Given the description of an element on the screen output the (x, y) to click on. 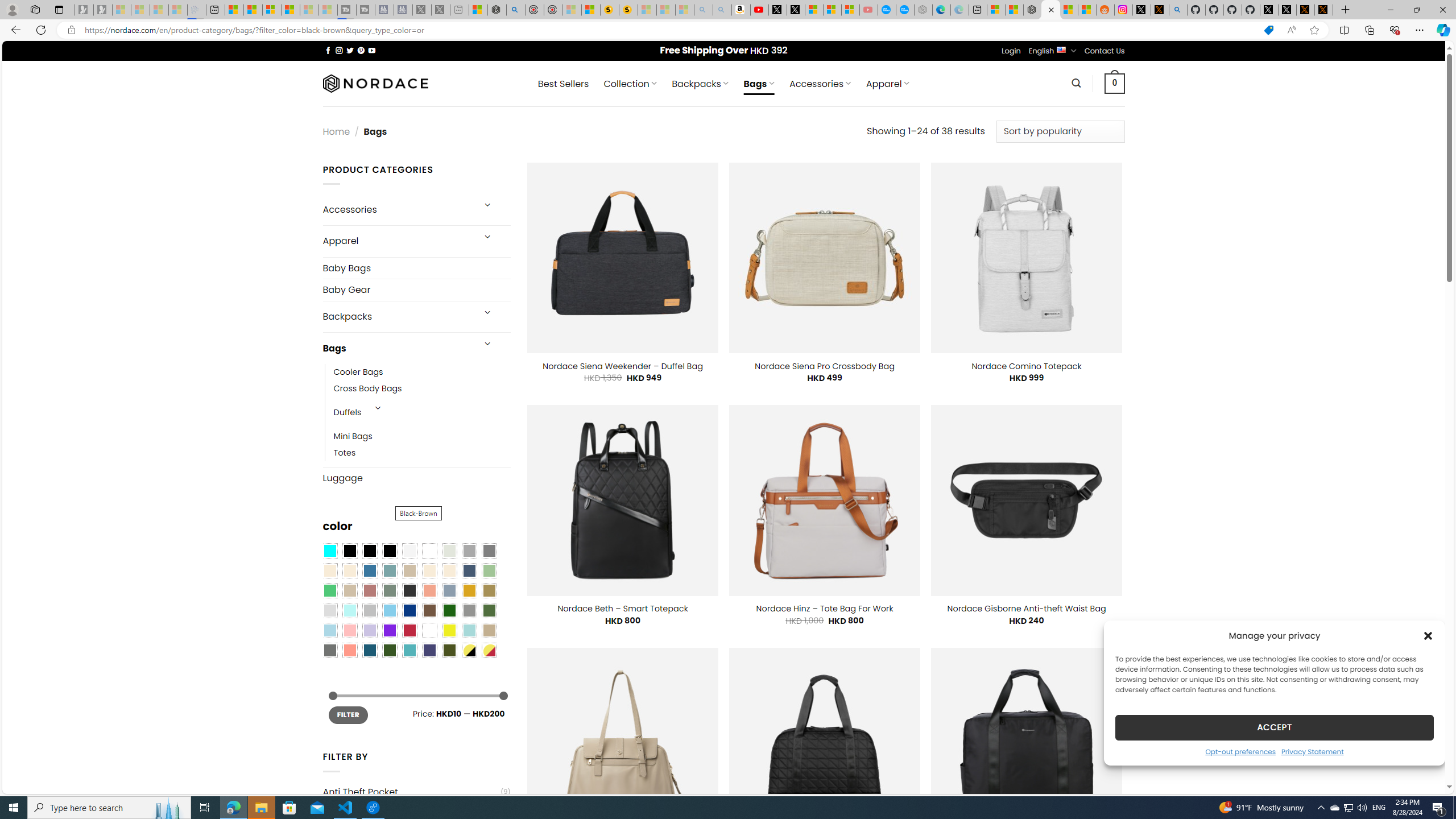
help.x.com | 524: A timeout occurred (1159, 9)
Address and search bar (669, 29)
Light Green (488, 570)
Bags (397, 348)
Mint (349, 610)
Purple (389, 630)
App bar (728, 29)
Nordace Comino Totepack (1026, 365)
Streaming Coverage | T3 - Sleeping (347, 9)
Beige (329, 570)
Home (335, 131)
Profile / X (1268, 9)
